Given the description of an element on the screen output the (x, y) to click on. 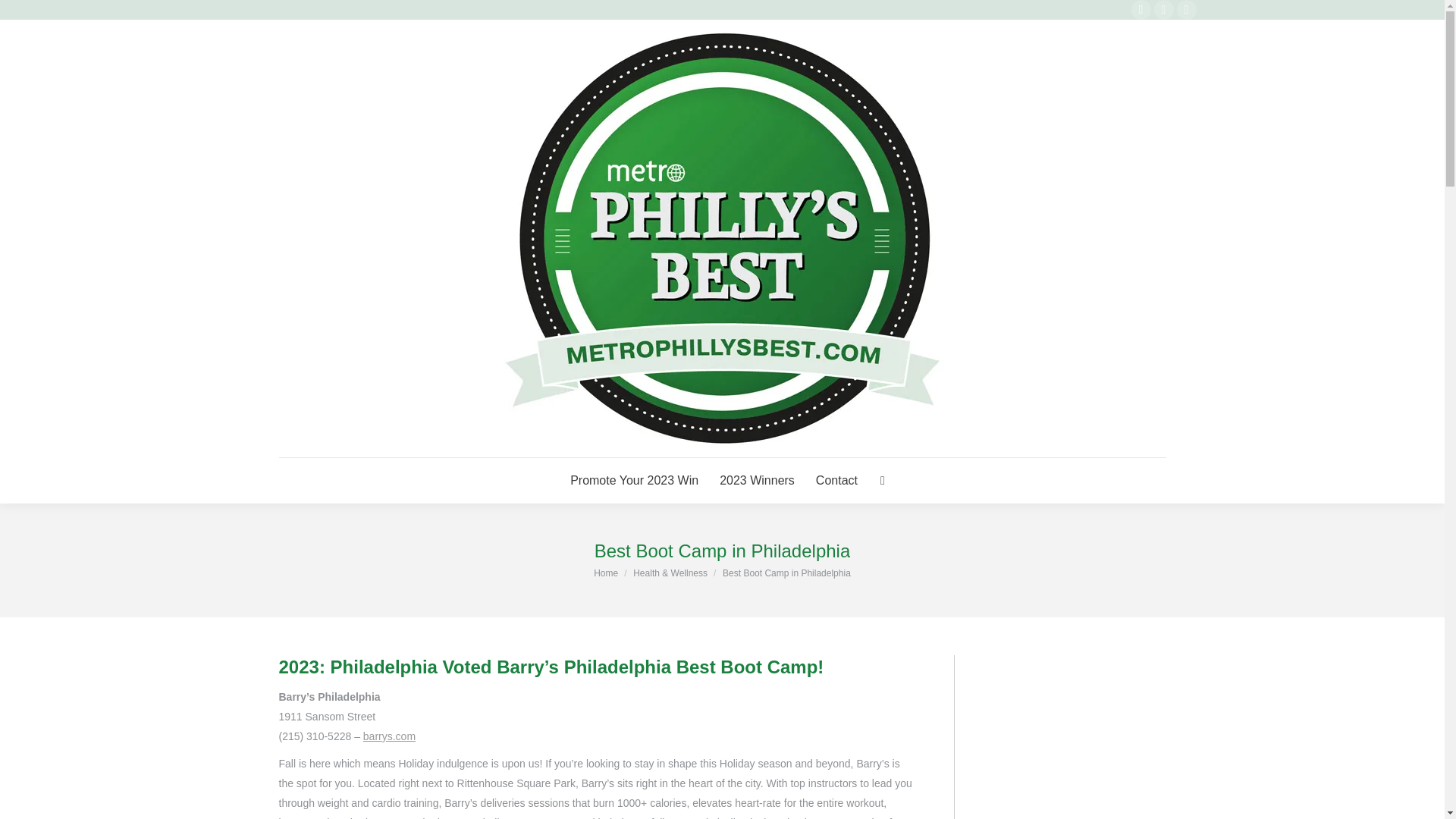
Facebook page opens in new window (1141, 9)
Home (605, 572)
2023 Winners (756, 480)
Twitter page opens in new window (1163, 9)
Twitter page opens in new window (1163, 9)
Instagram page opens in new window (1186, 9)
Promote Your 2023 Win (634, 480)
Facebook page opens in new window (1141, 9)
Instagram page opens in new window (1186, 9)
3rd party ad content (1079, 740)
